Given the description of an element on the screen output the (x, y) to click on. 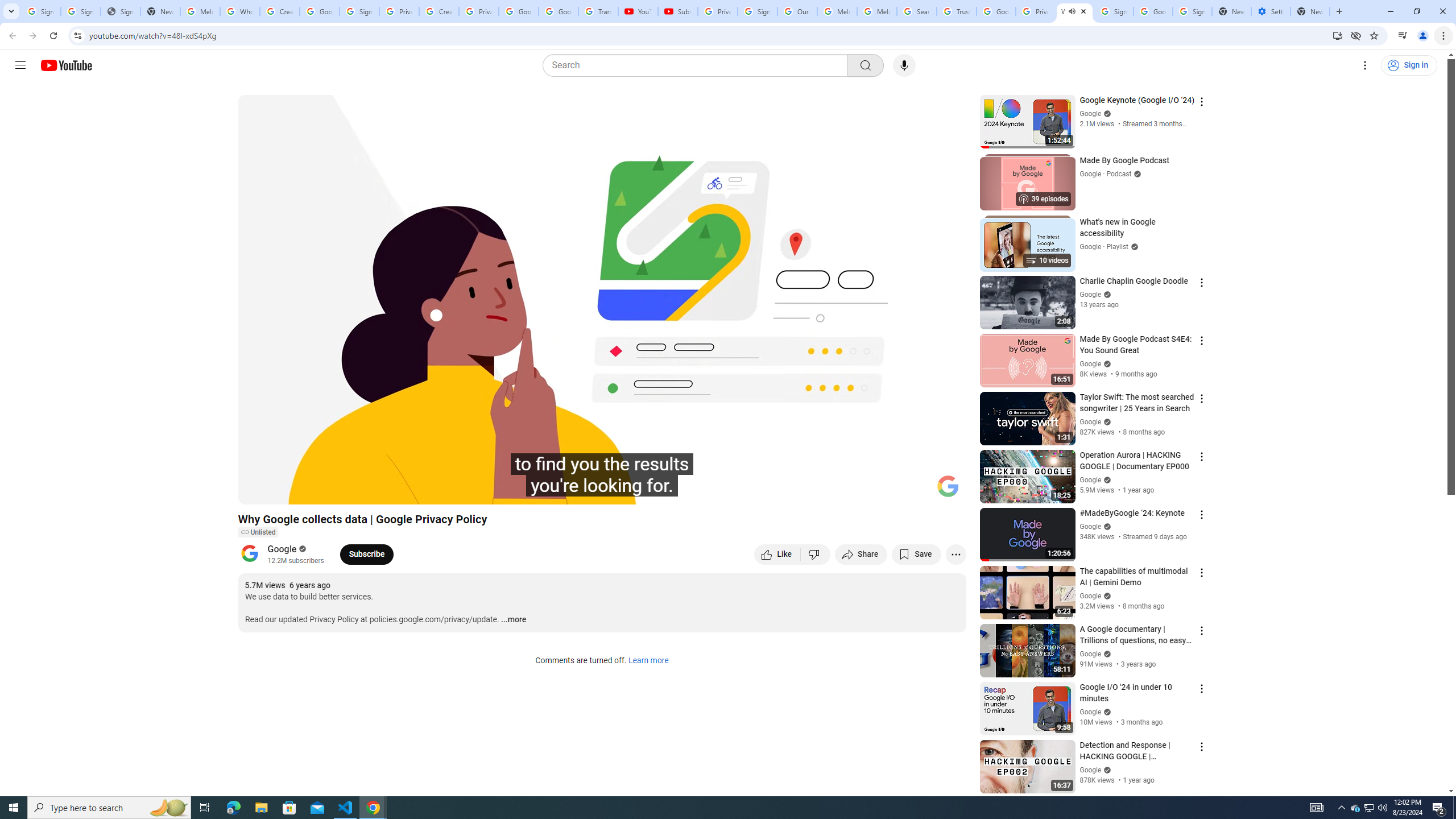
Channel watermark (947, 486)
Trusted Information and Content - Google Safety Center (956, 11)
Google Cybersecurity Innovations - Google Safety Center (1152, 11)
Settings - Addresses and more (1270, 11)
